Given the description of an element on the screen output the (x, y) to click on. 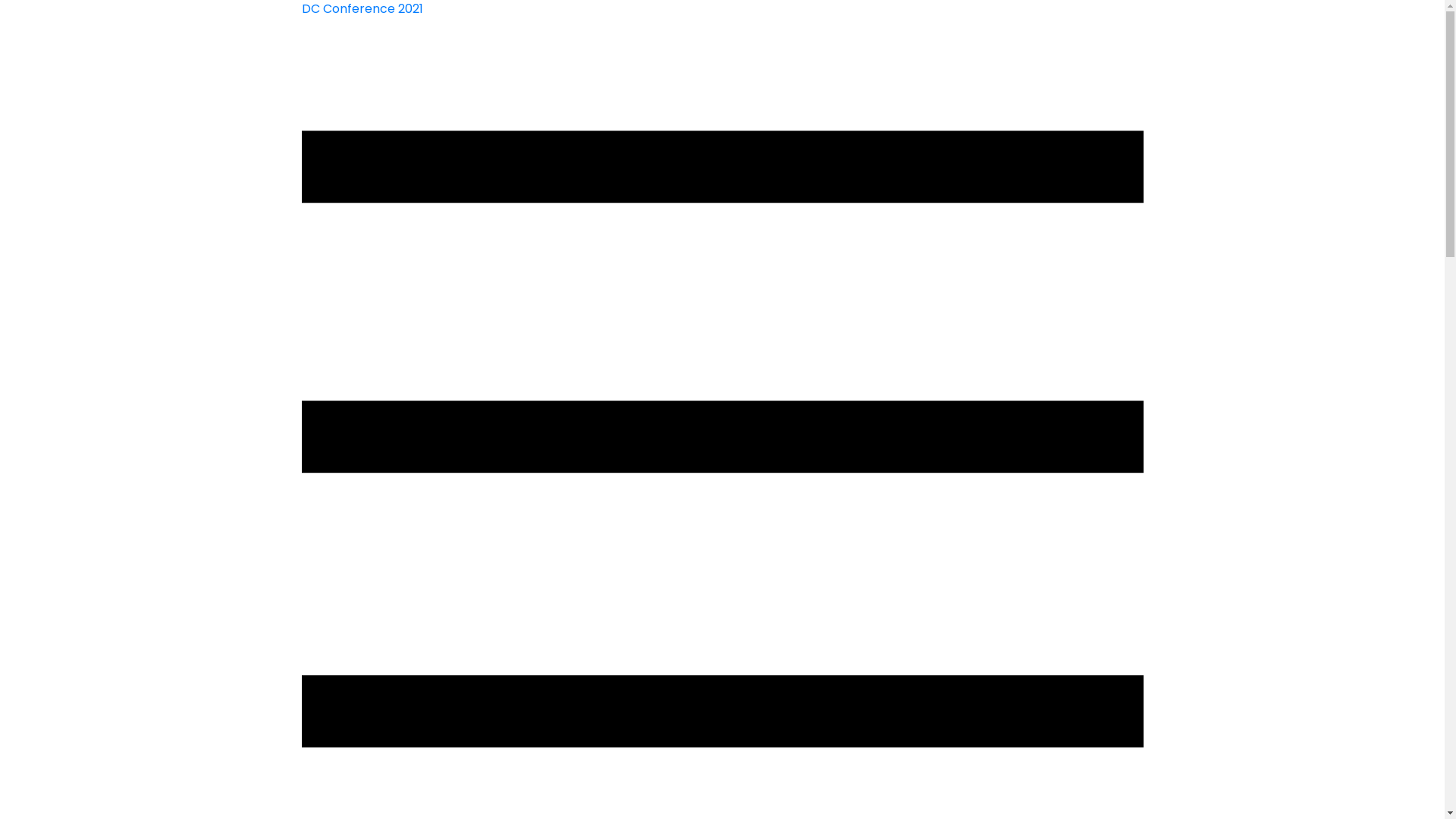
DC Conference 2021 Element type: text (362, 8)
